Given the description of an element on the screen output the (x, y) to click on. 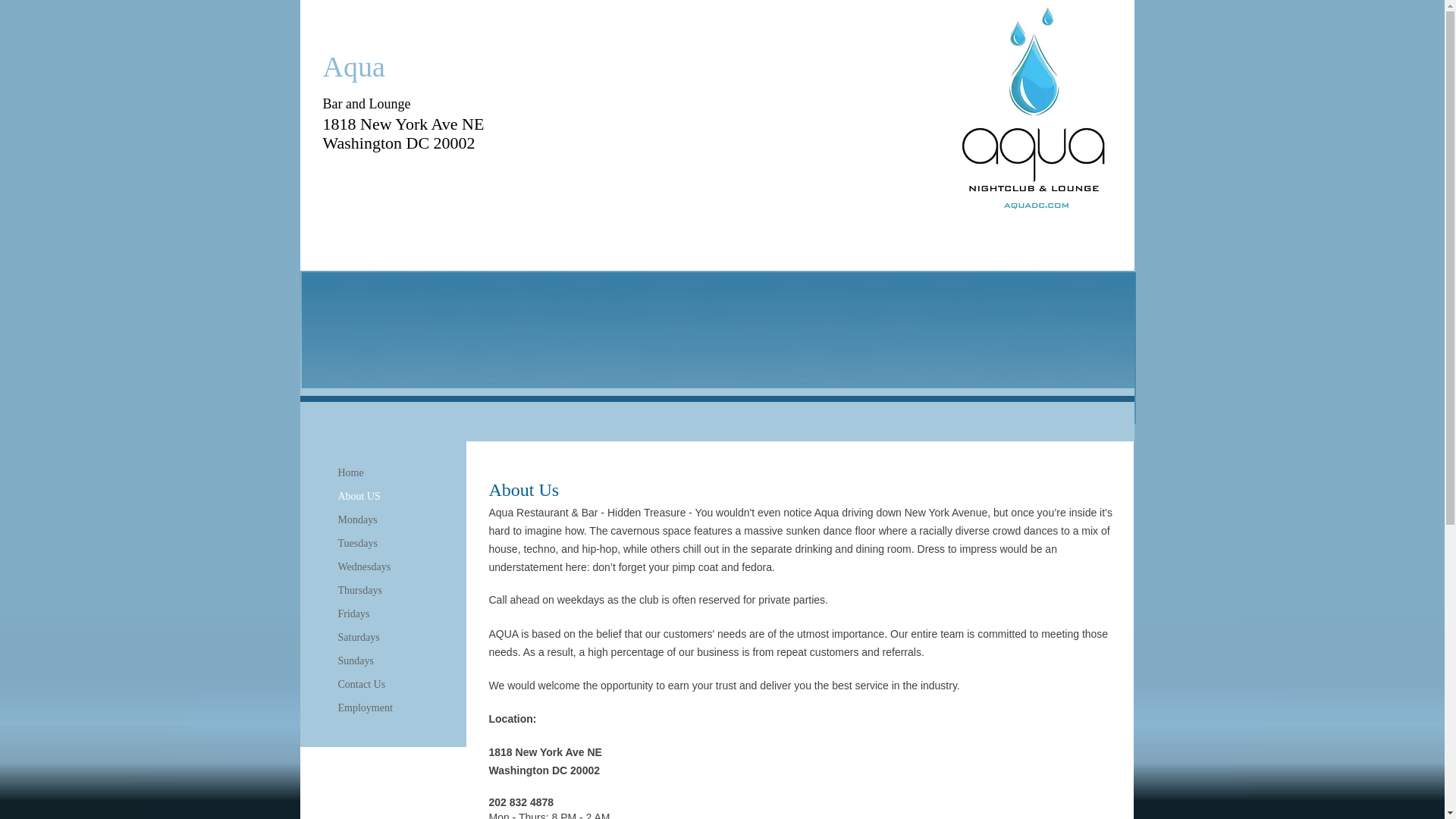
Mondays (357, 519)
Sundays (355, 660)
Home (350, 473)
Saturdays (358, 637)
Wednesdays (364, 567)
Thursdays (360, 590)
Fridays (353, 613)
Employment (365, 708)
Contact Us (361, 684)
Tuesdays (357, 543)
About US (359, 496)
